Given the description of an element on the screen output the (x, y) to click on. 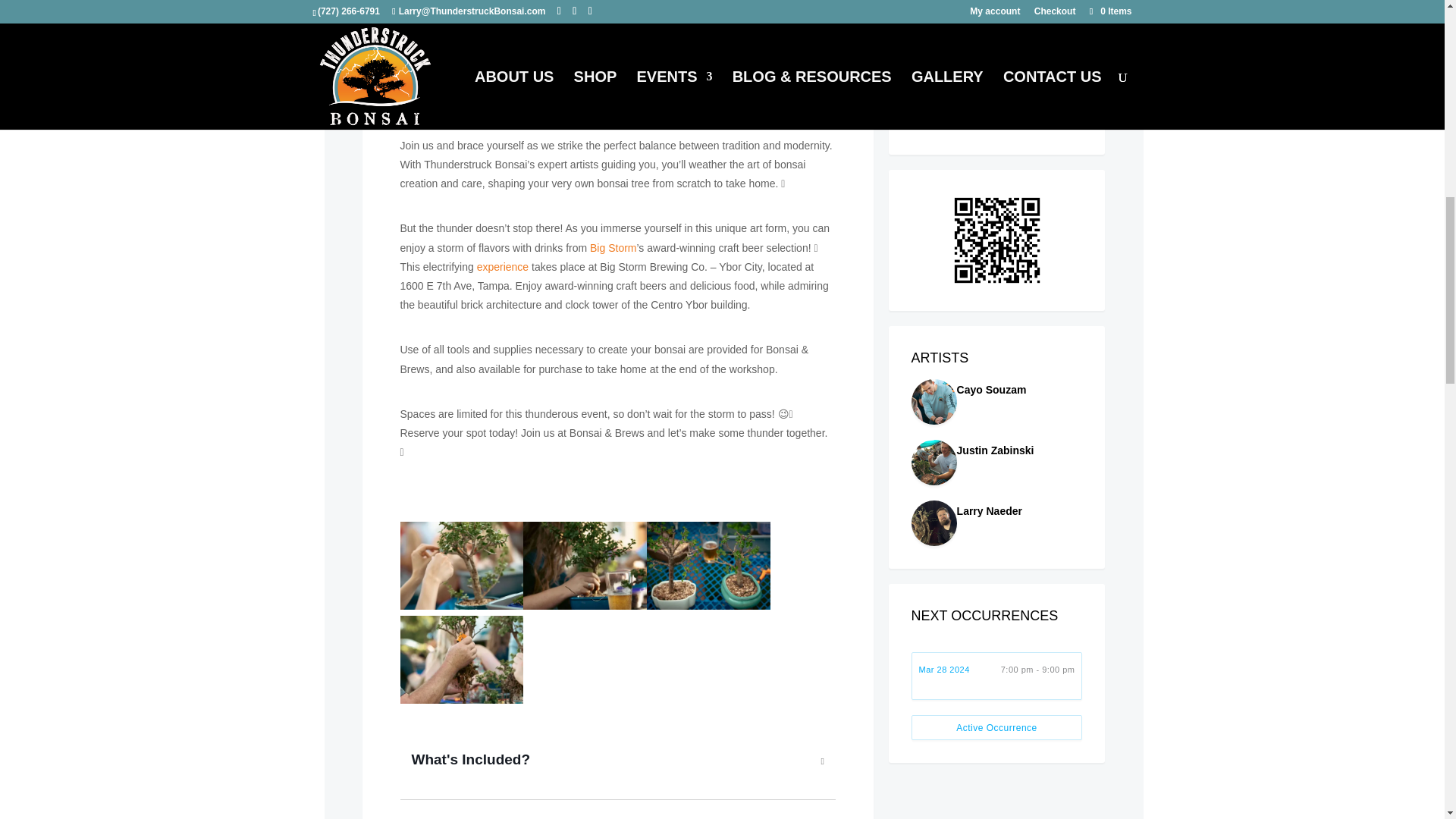
DSC00147 (462, 662)
Thunderstruck Bonsai and Brews Workshop (584, 568)
Thunderstruck Bonsai and Brews Workshop (462, 568)
Thunderstruck Bonsai (499, 101)
Bonsai and Brews Workshop (708, 568)
